Given the description of an element on the screen output the (x, y) to click on. 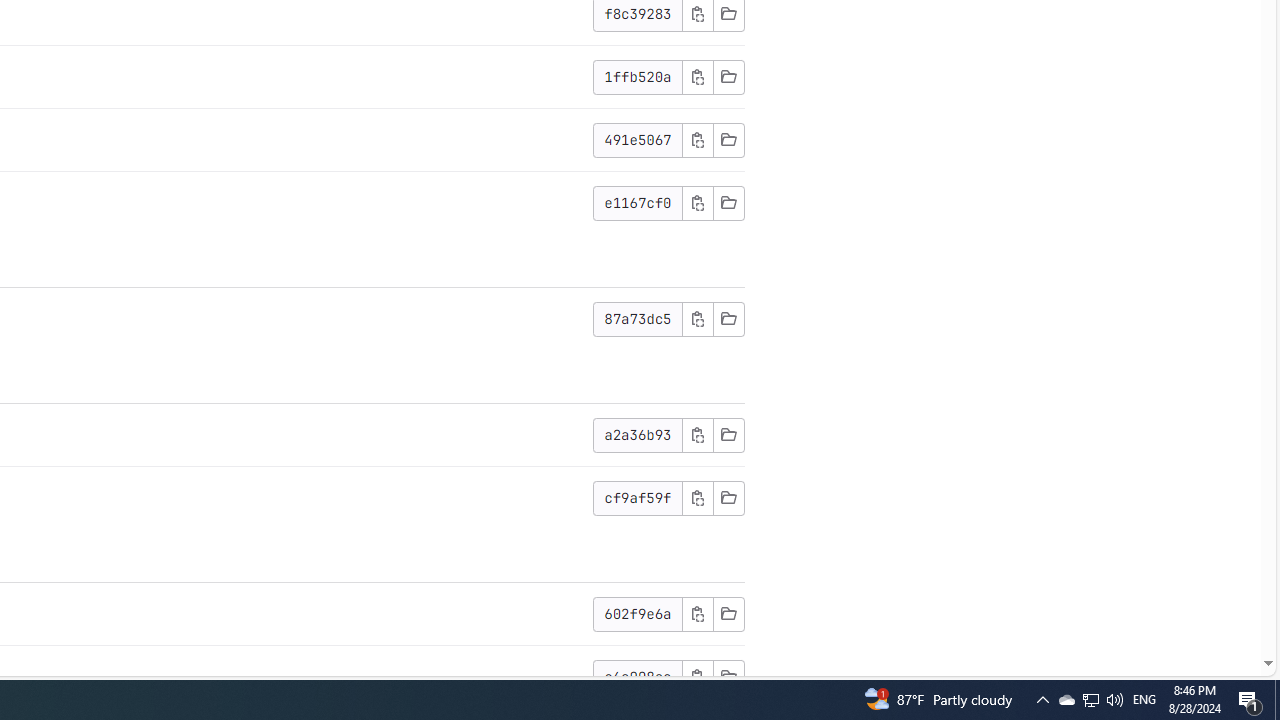
Copy commit SHA (697, 676)
Class: s16 gl-icon gl-button-icon  (697, 676)
Browse Files (727, 676)
Class: s16 (728, 676)
